Given the description of an element on the screen output the (x, y) to click on. 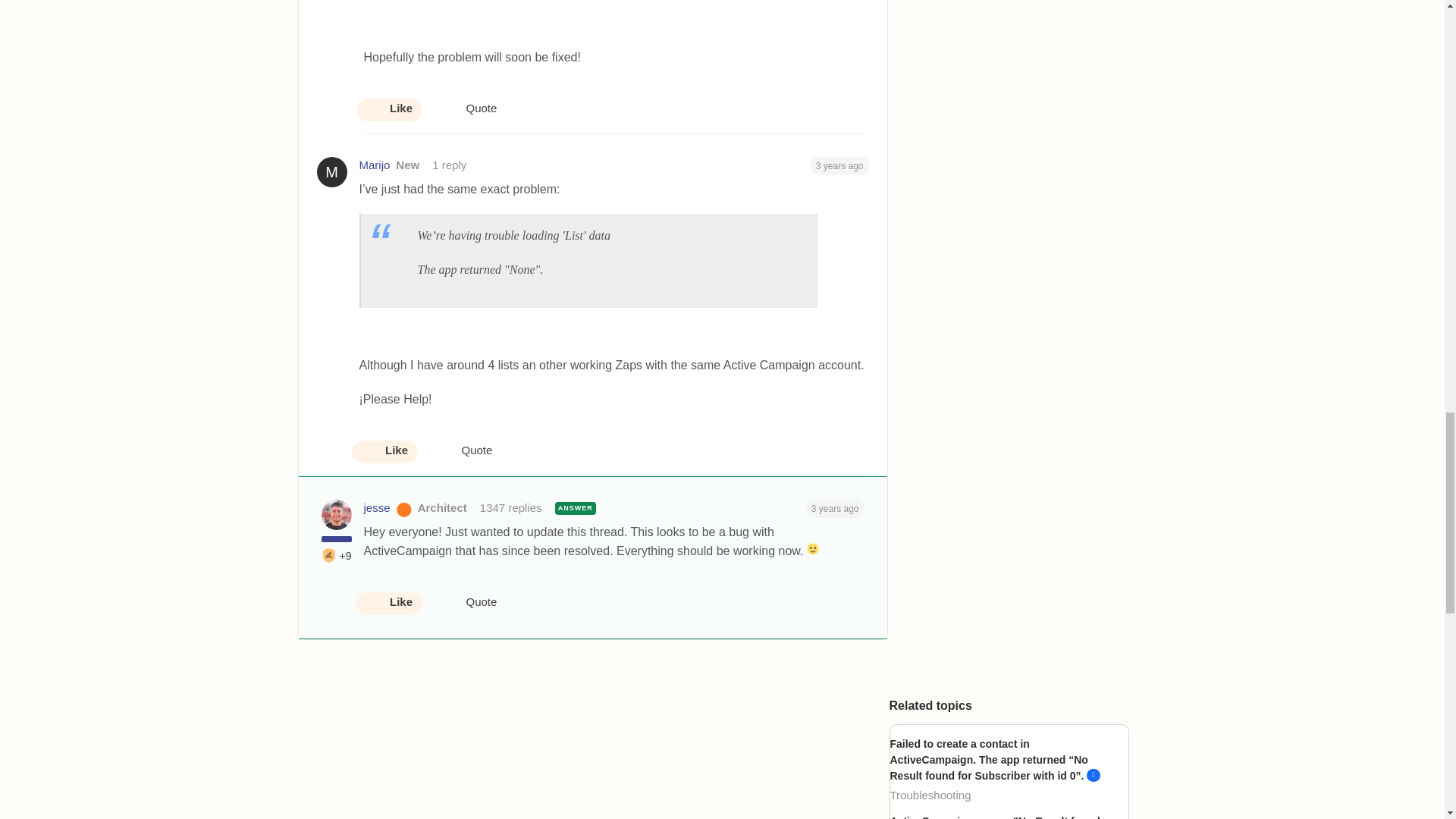
Marijo (374, 165)
First Best Answer (328, 555)
jesse (377, 507)
